Given the description of an element on the screen output the (x, y) to click on. 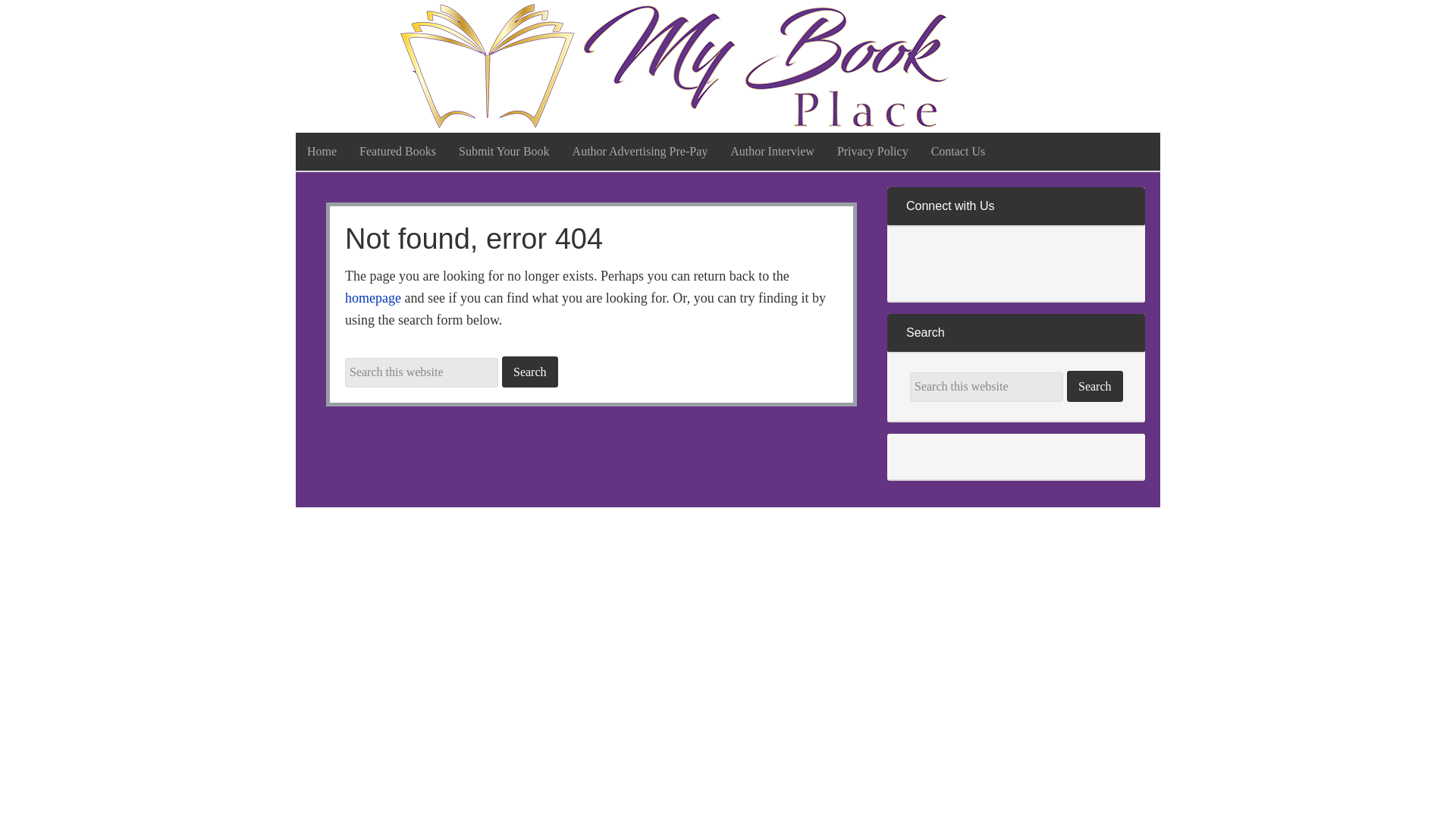
Author Interview (772, 151)
Search (1094, 386)
Search (1094, 386)
Search (1094, 386)
Home (321, 151)
My Book Place (674, 66)
Author Advertising Pre-Pay (639, 151)
Featured Books (396, 151)
Search (529, 371)
Privacy Policy (872, 151)
Search (529, 371)
Search (529, 371)
Submit Your Book (503, 151)
homepage (373, 297)
Contact Us (958, 151)
